Given the description of an element on the screen output the (x, y) to click on. 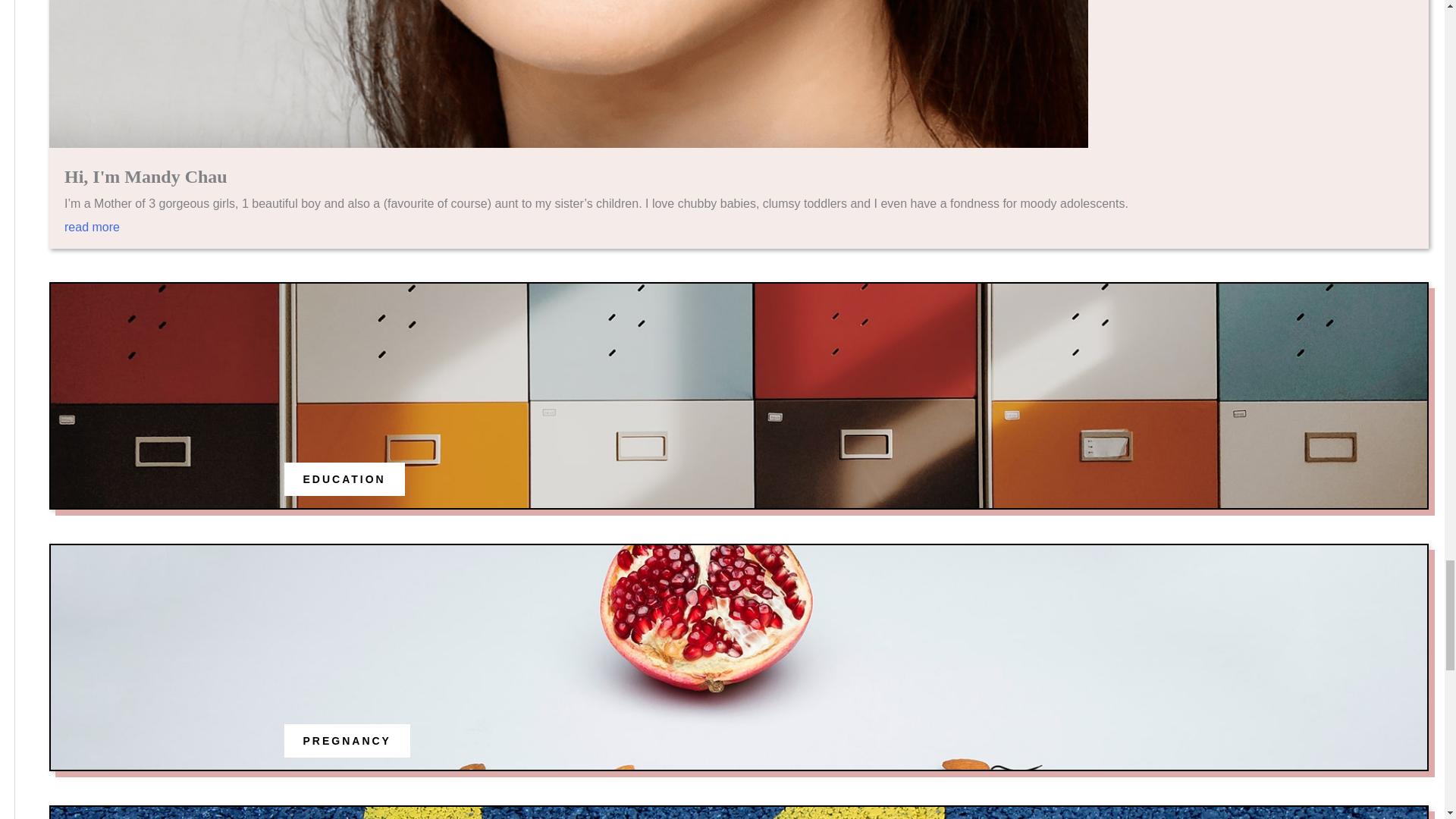
read more (738, 234)
PREGNANCY (346, 740)
EDUCATION (344, 479)
